Given the description of an element on the screen output the (x, y) to click on. 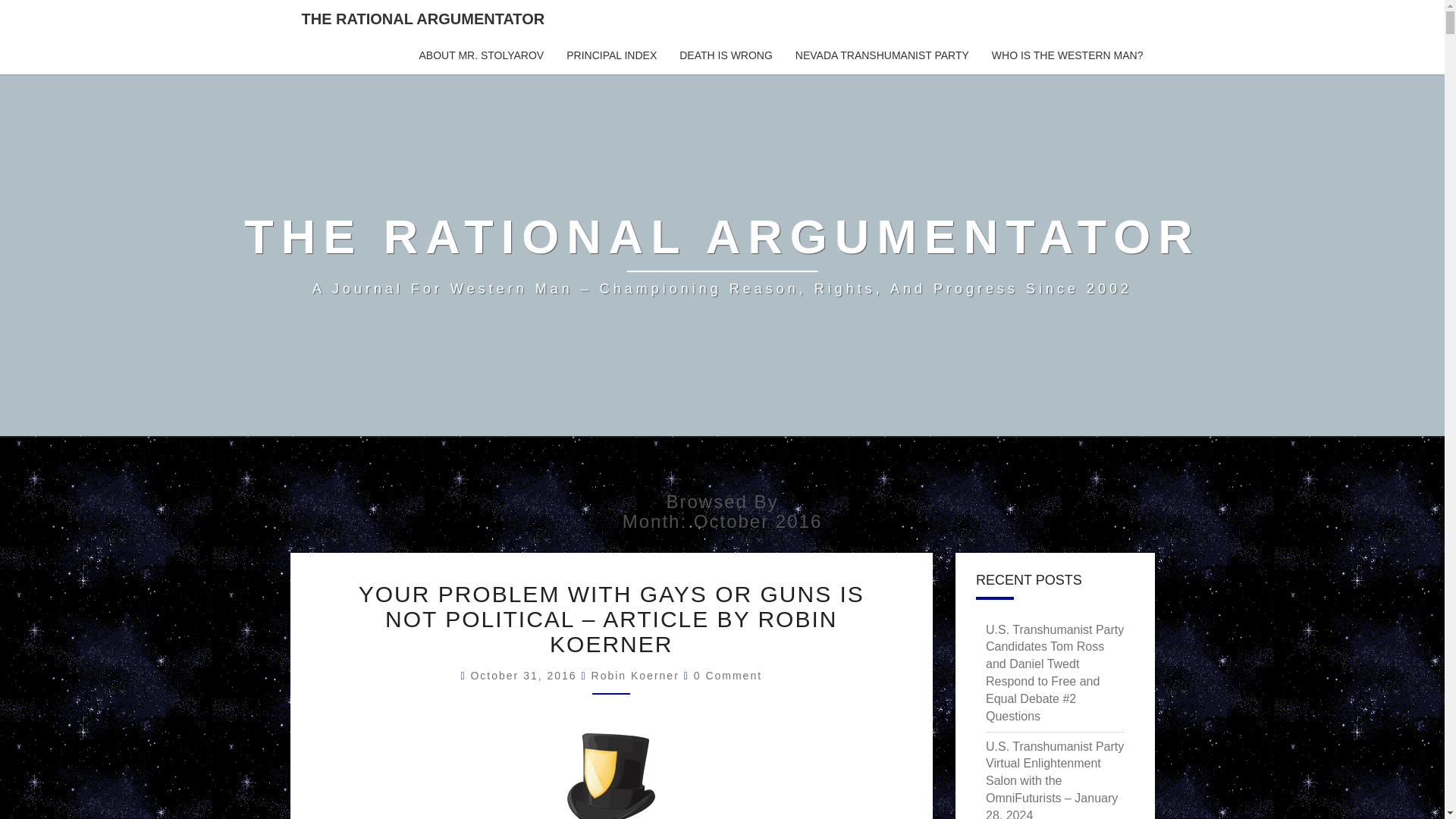
October 31, 2016 (525, 675)
View all posts by Robin Koerner (635, 675)
THE RATIONAL ARGUMENTATOR (422, 18)
NEVADA TRANSHUMANIST PARTY (881, 55)
DEATH IS WRONG (726, 55)
0 Comment (727, 675)
WHO IS THE WESTERN MAN? (1066, 55)
PRINCIPAL INDEX (611, 55)
3:05 AM (525, 675)
ABOUT MR. STOLYAROV (481, 55)
